Given the description of an element on the screen output the (x, y) to click on. 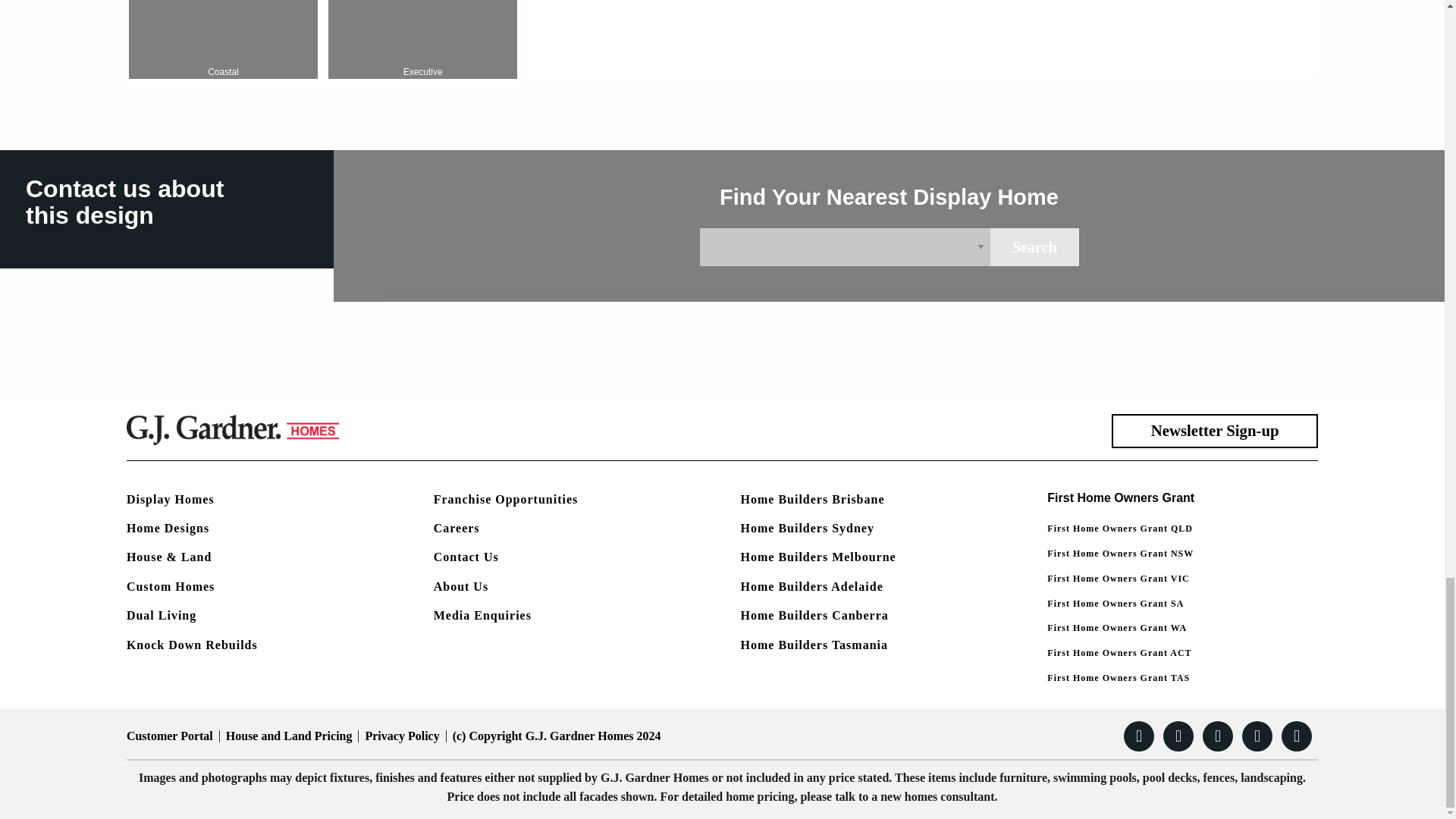
Search (322, 44)
